Given the description of an element on the screen output the (x, y) to click on. 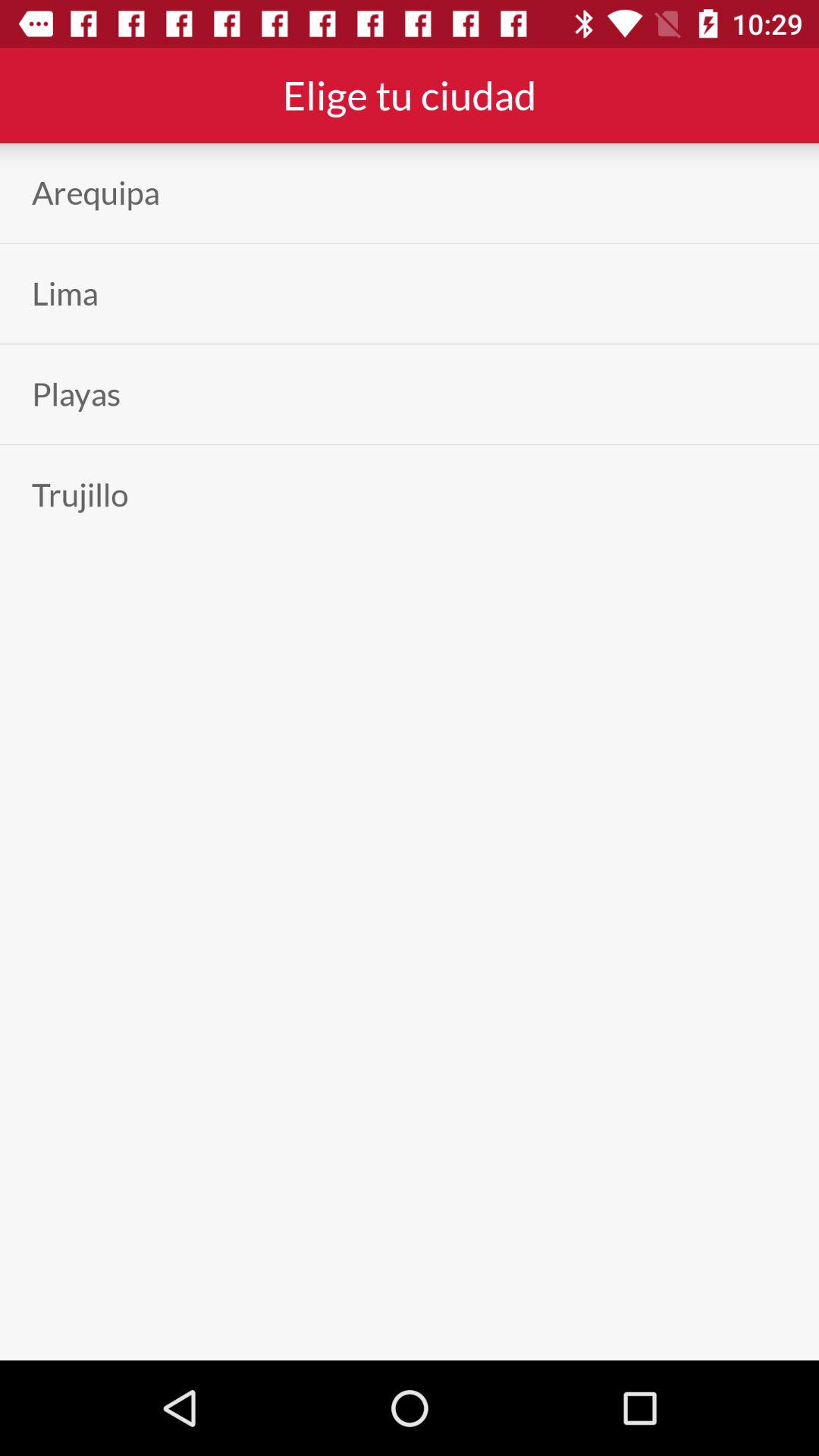
launch the trujillo (79, 495)
